Given the description of an element on the screen output the (x, y) to click on. 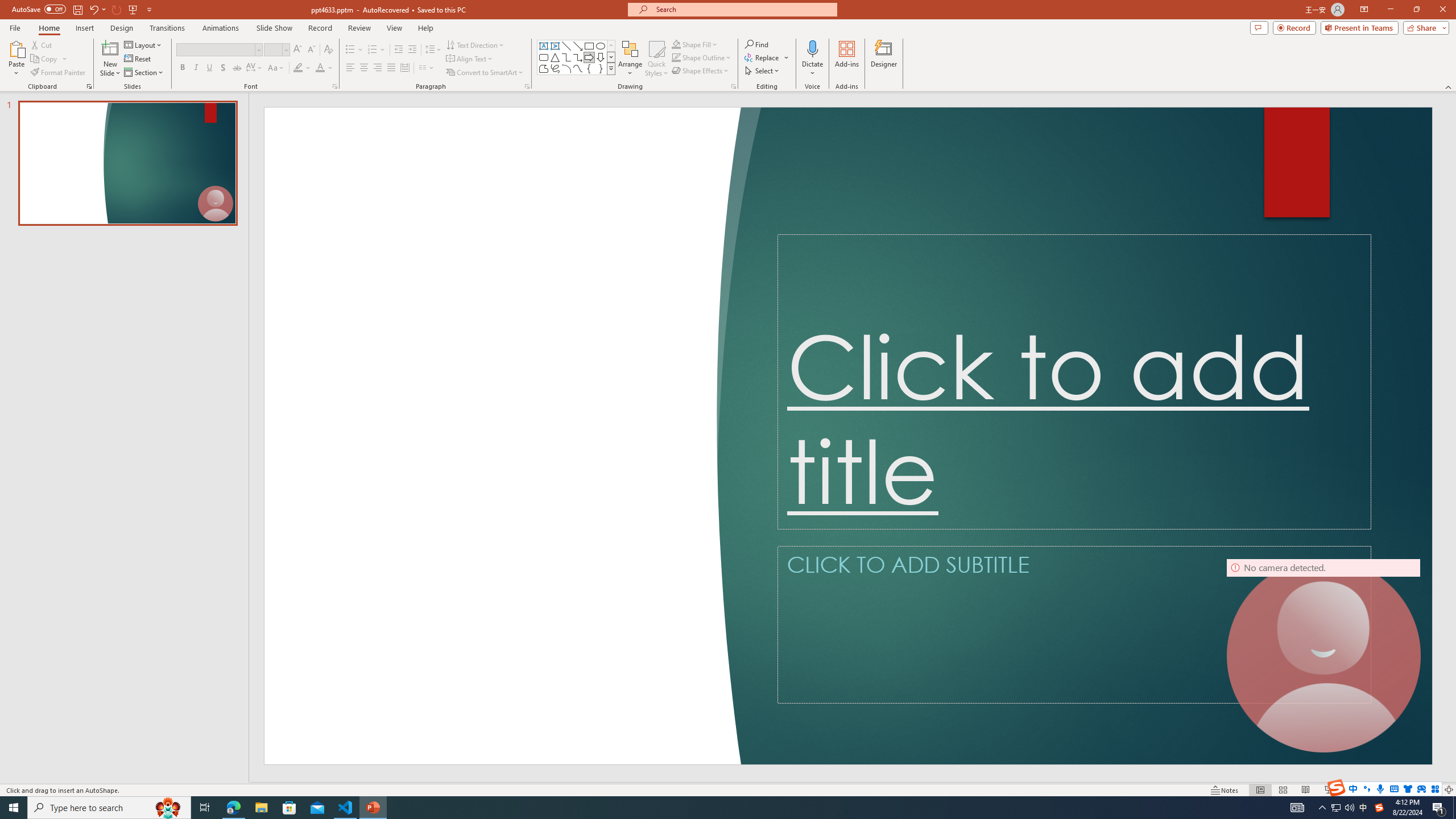
Shape Outline Dark Red, Accent 1 (675, 56)
